Given the description of an element on the screen output the (x, y) to click on. 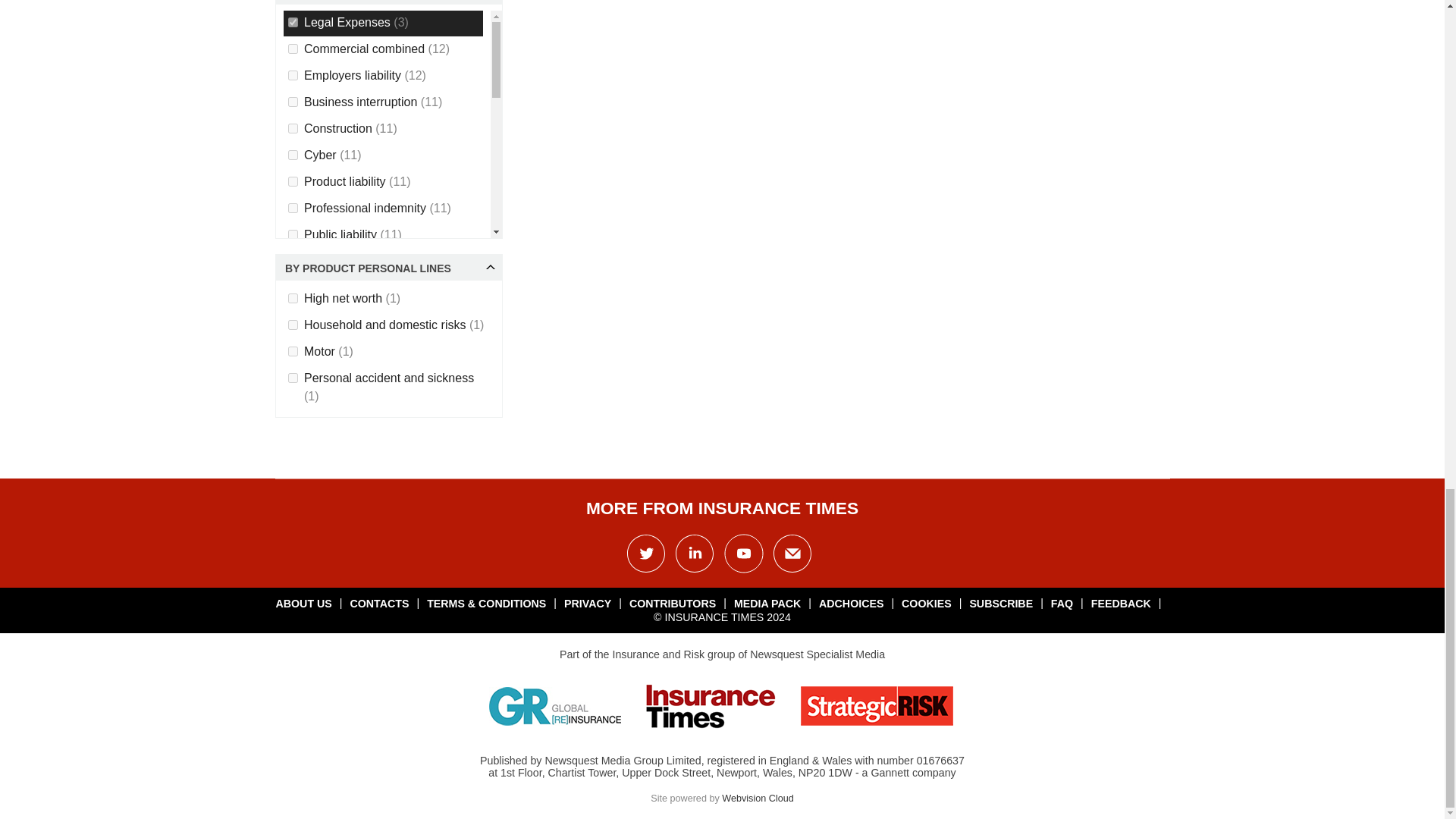
14139 (293, 75)
14135 (293, 49)
14136 (293, 128)
14171 (293, 22)
14137 (293, 154)
14143 (293, 181)
14134 (293, 102)
